Given the description of an element on the screen output the (x, y) to click on. 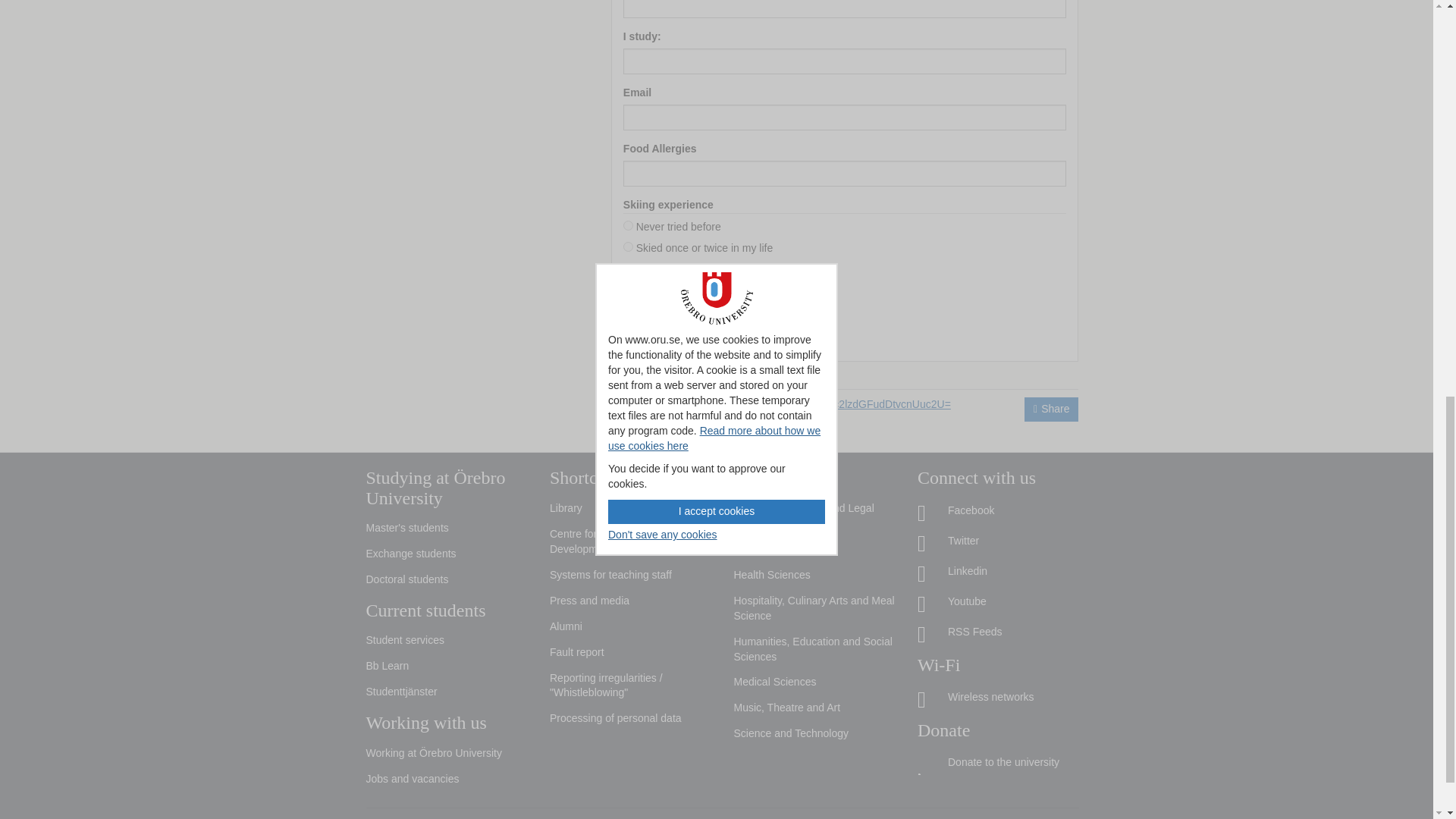
Skied once or twice in my life (628, 246)
Never tried before (628, 225)
Donate to the university (997, 762)
Sking is something I know how to do (628, 267)
Behavioural, Social and Legal Sciences (814, 516)
Expert on this!  (628, 289)
